Given the description of an element on the screen output the (x, y) to click on. 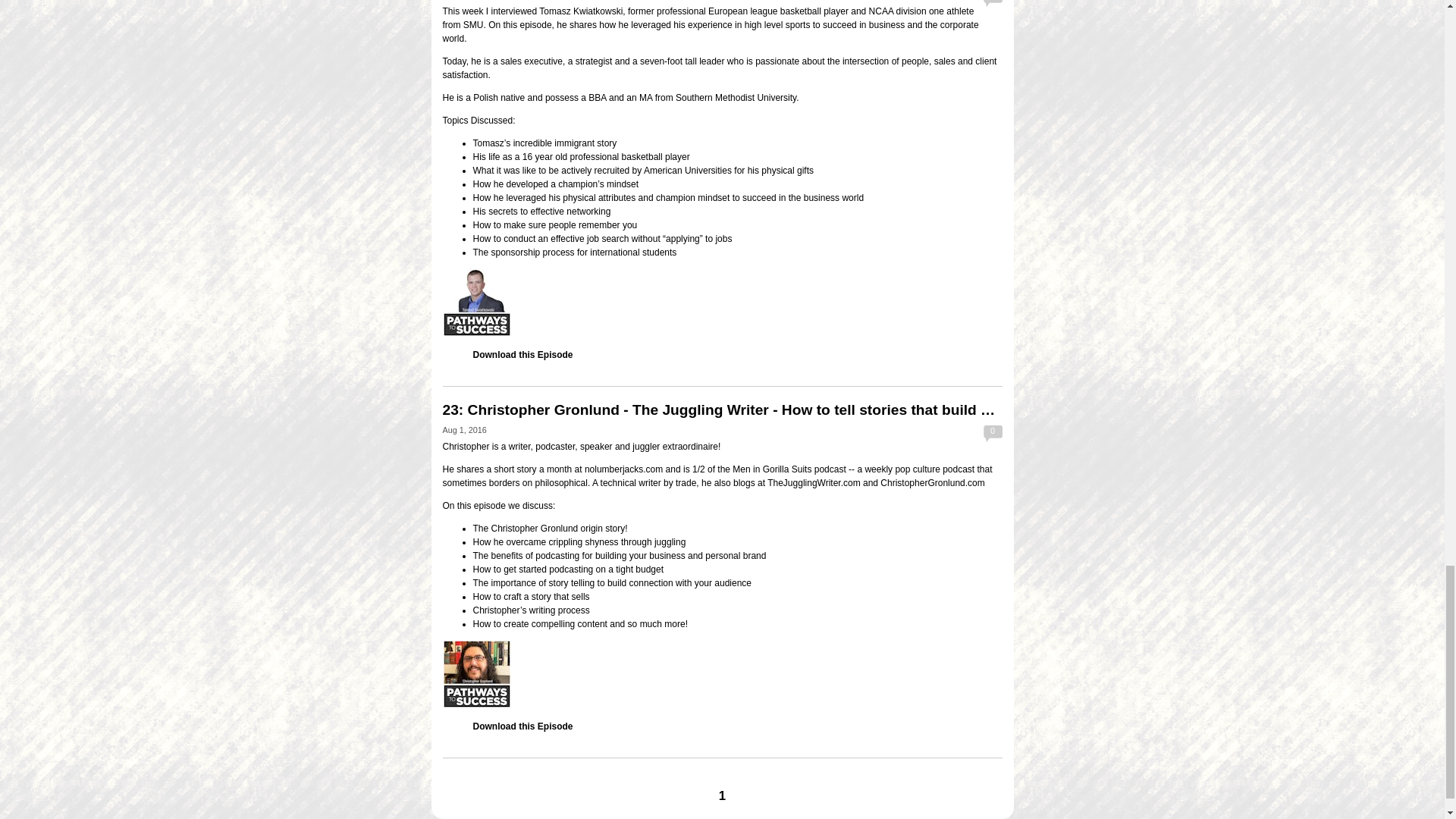
Libsyn Player (722, 673)
Libsyn Player (722, 302)
